Given the description of an element on the screen output the (x, y) to click on. 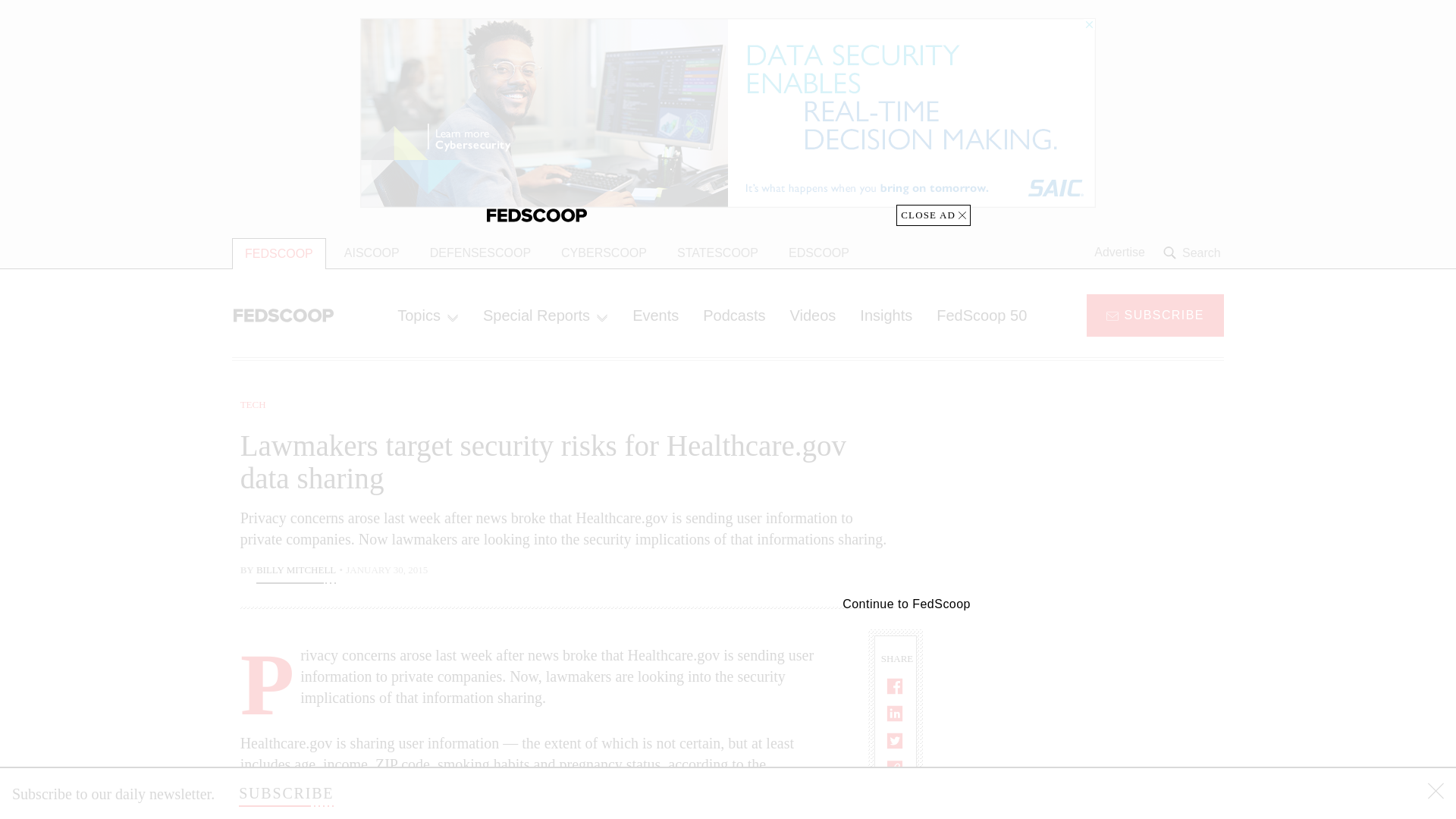
3rd party ad content (1101, 705)
STATESCOOP (717, 253)
AISCOOP (371, 253)
Billy Mitchell (296, 571)
FedScoop 50 (981, 315)
FEDSCOOP (278, 253)
CYBERSCOOP (603, 253)
3rd party ad content (1101, 492)
DEFENSESCOOP (480, 253)
Podcasts (733, 315)
Special Reports (545, 315)
Insights (885, 315)
